Given the description of an element on the screen output the (x, y) to click on. 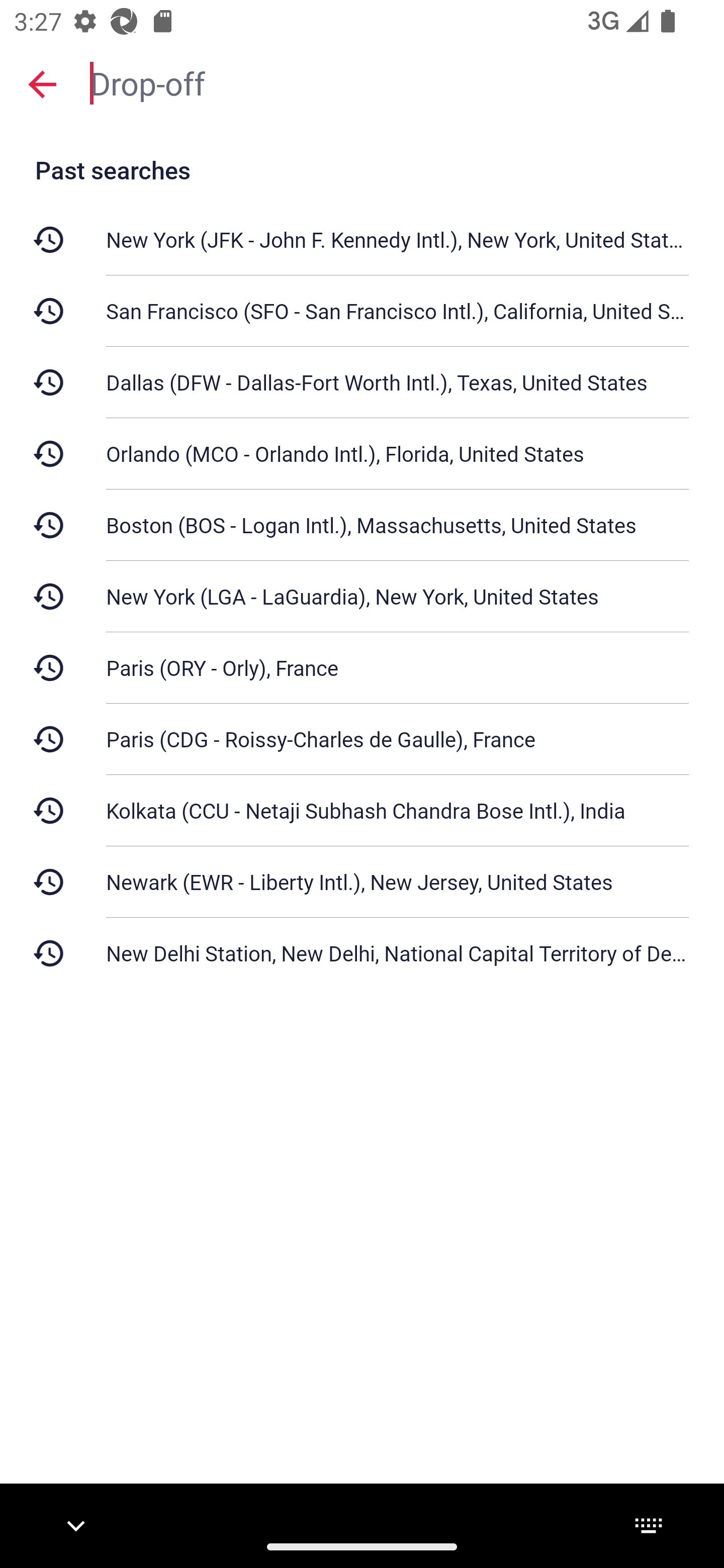
Drop-off,  (397, 82)
Close search screen (41, 83)
